Given the description of an element on the screen output the (x, y) to click on. 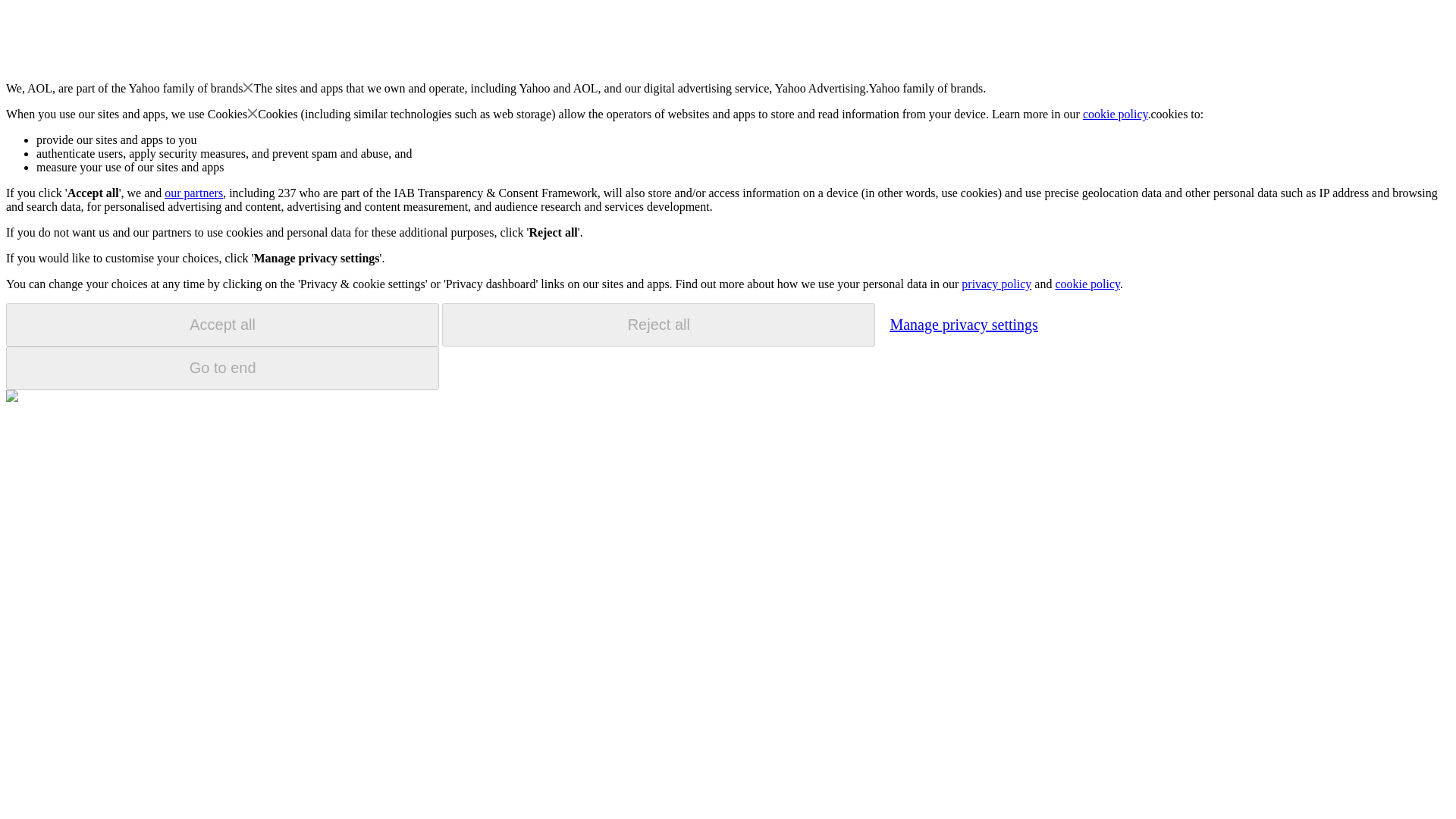
our partners (193, 192)
Reject all (658, 324)
Go to end (222, 367)
privacy policy (995, 283)
Accept all (222, 324)
cookie policy (1086, 283)
cookie policy (1115, 113)
Manage privacy settings (963, 323)
